Given the description of an element on the screen output the (x, y) to click on. 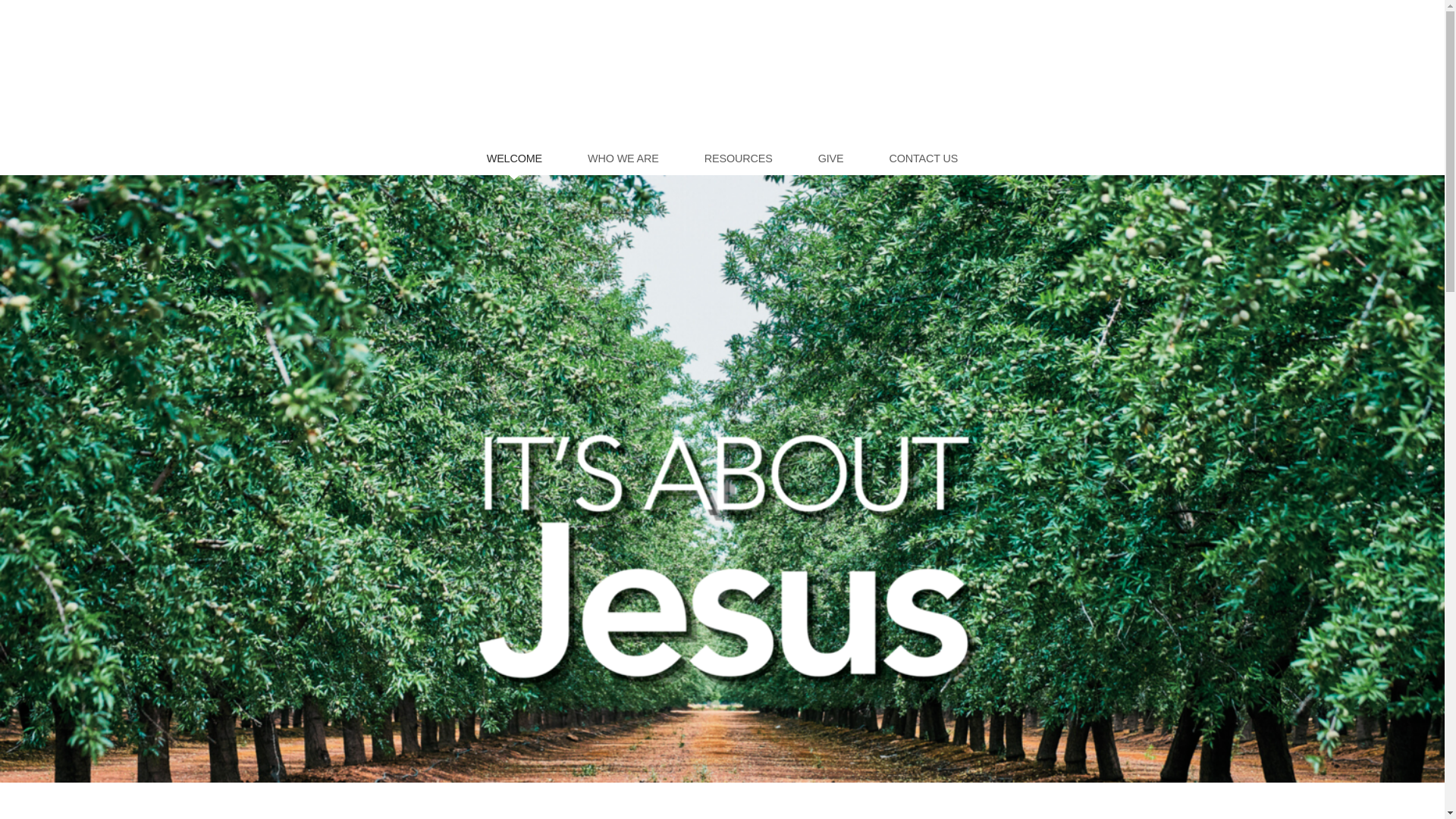
CONTACT US (923, 158)
WHO WE ARE (623, 158)
WELCOME (513, 158)
RESOURCES (738, 158)
GIVE (831, 158)
